Given the description of an element on the screen output the (x, y) to click on. 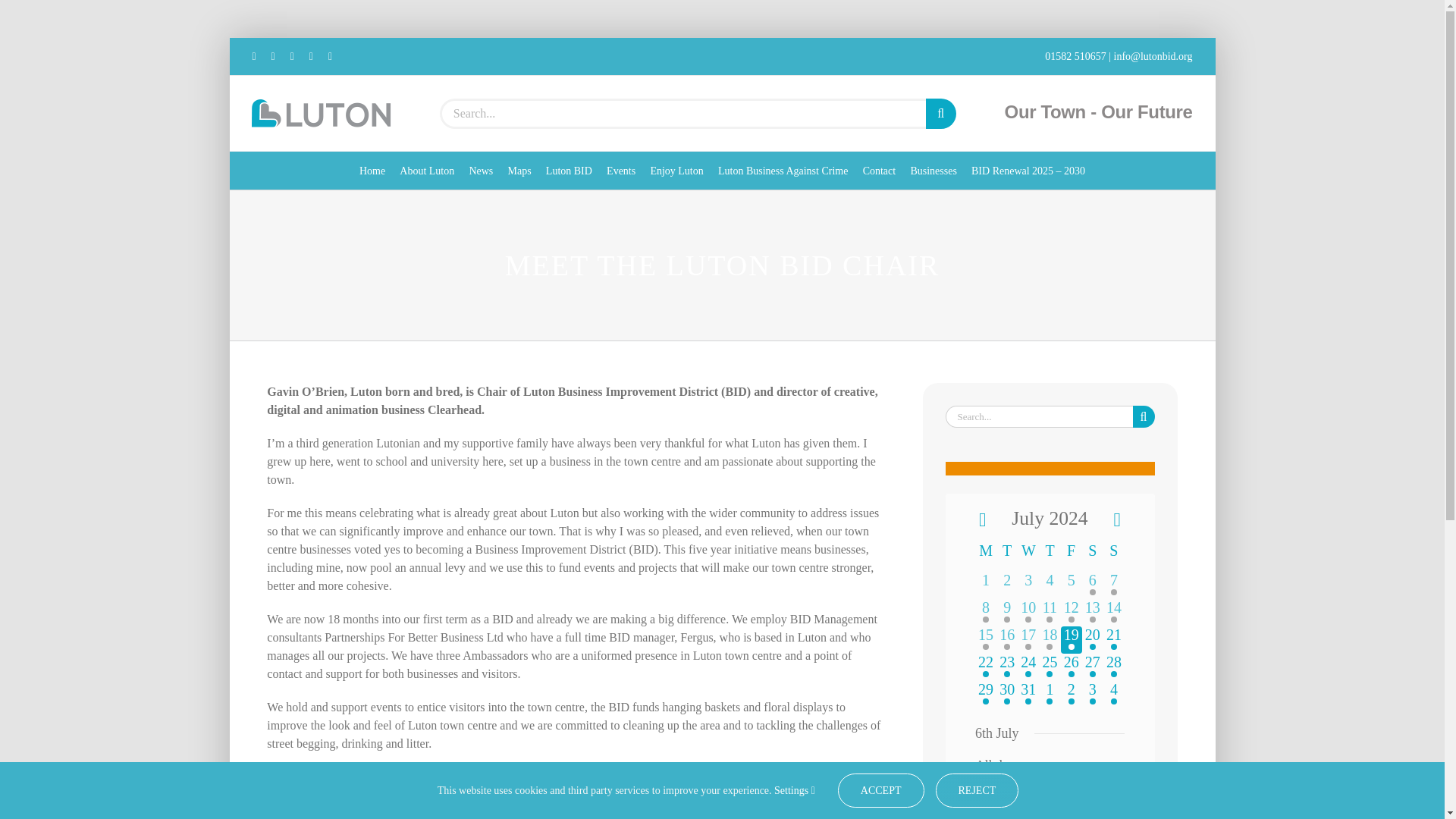
Luton Business Against Crime (782, 170)
01582 510657 (1076, 56)
Luton BID (569, 170)
Enjoy Luton (676, 170)
About Luton (721, 113)
